Given the description of an element on the screen output the (x, y) to click on. 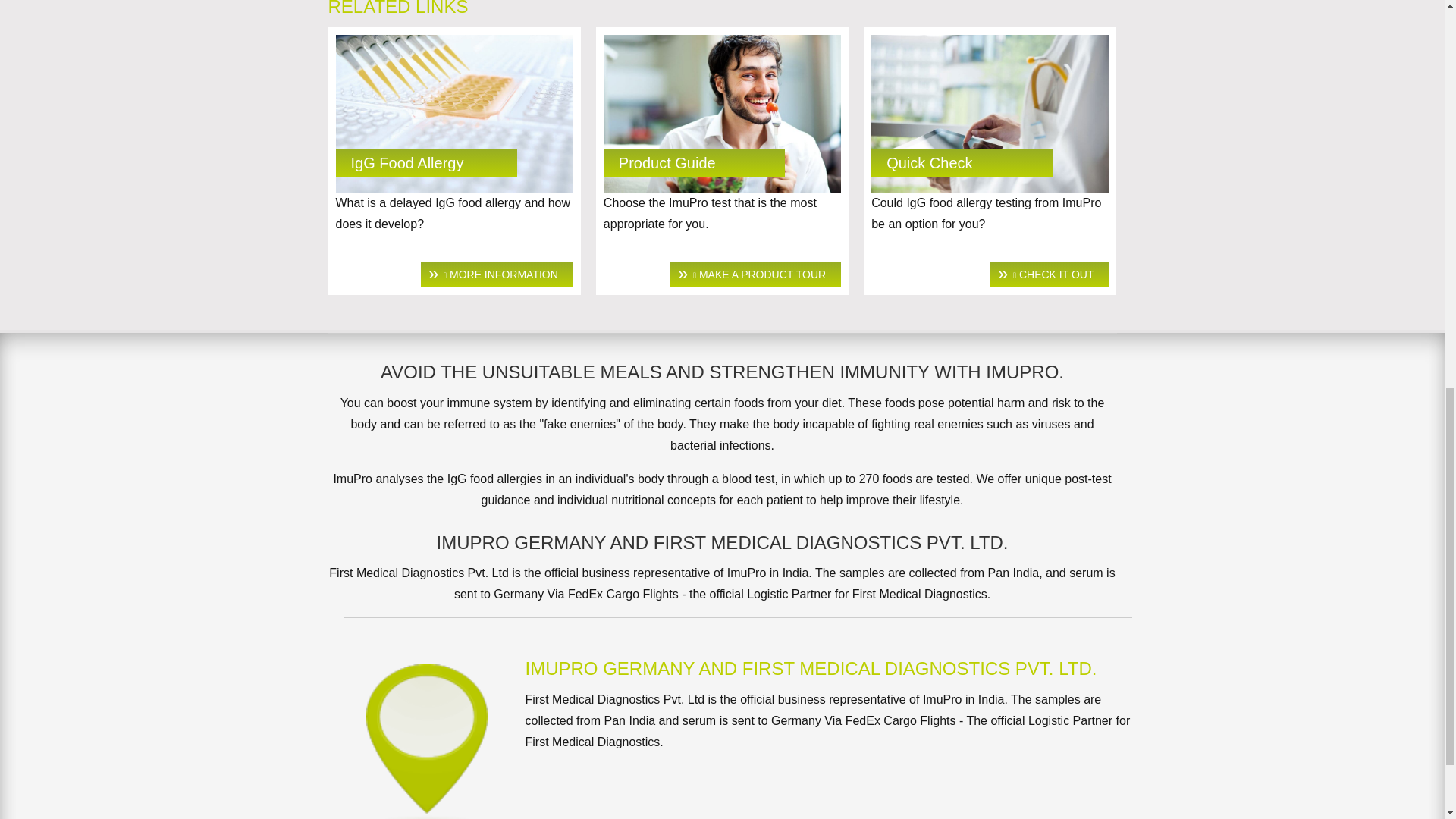
IgG Food Allergy (406, 162)
Product Guide (667, 162)
Quick Check (1049, 274)
Quick Check (929, 162)
Quick Check (989, 114)
Product Guide (722, 114)
Product Guide (755, 274)
IgG Food Allergy (496, 274)
IgG Food Allergy (453, 114)
